Given the description of an element on the screen output the (x, y) to click on. 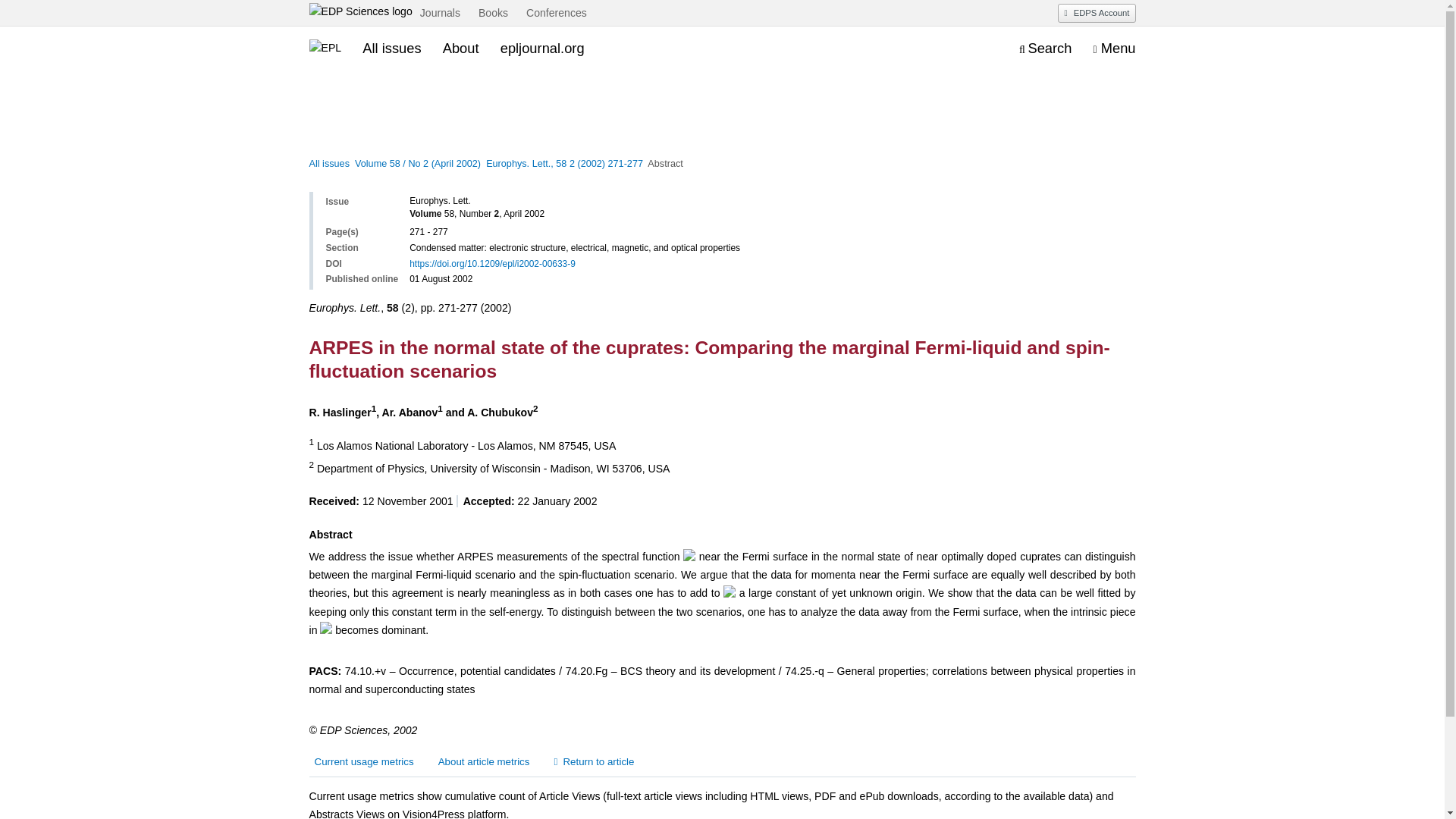
Conferences (556, 13)
Menu (1114, 48)
All issues (328, 163)
Books (493, 13)
Journals (440, 13)
Display the search engine (1045, 48)
Journal homepage (325, 48)
All issues (391, 48)
epljournal.org (542, 48)
About (460, 48)
